Given the description of an element on the screen output the (x, y) to click on. 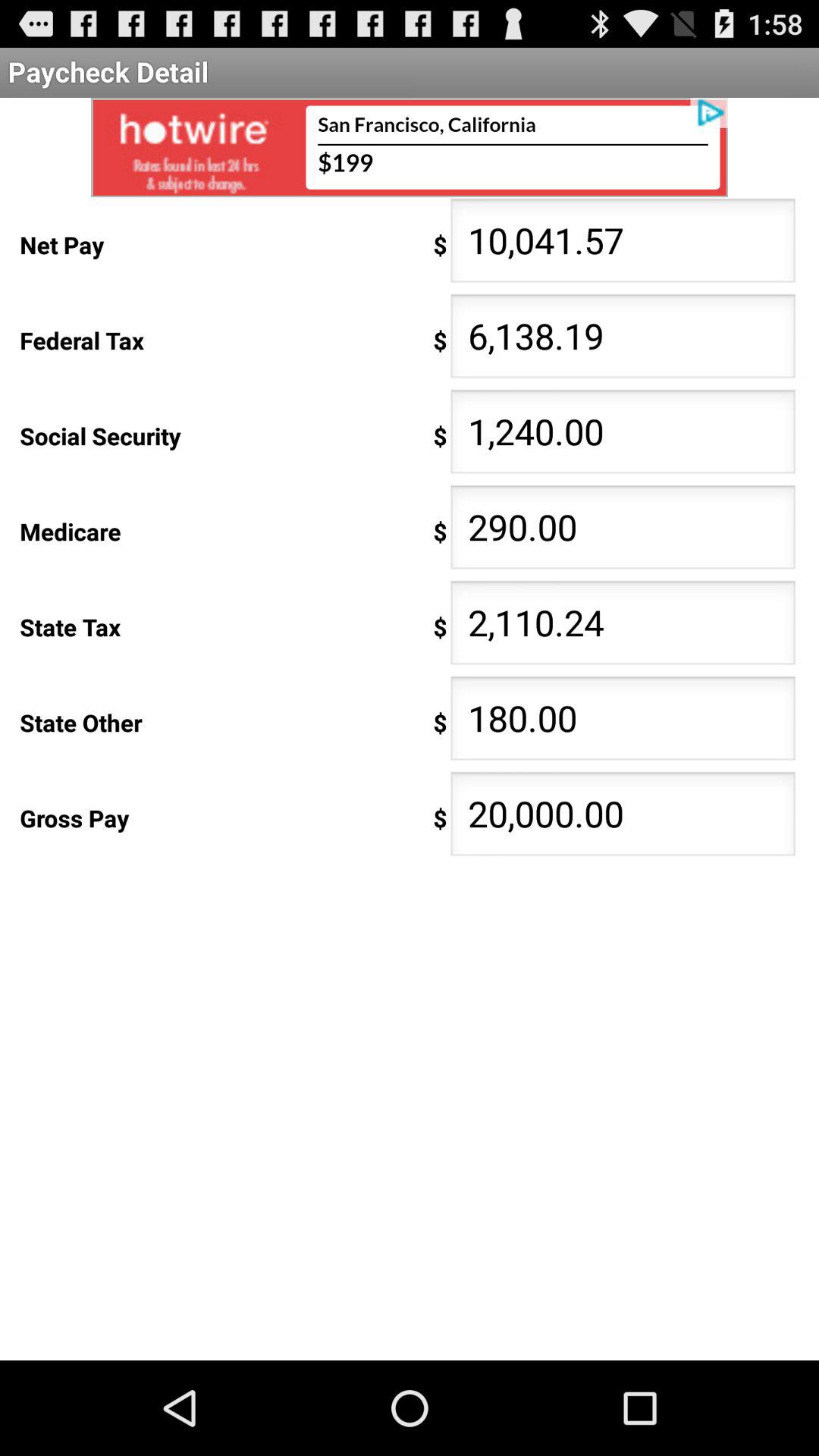
click on the advertisement (409, 147)
